Given the description of an element on the screen output the (x, y) to click on. 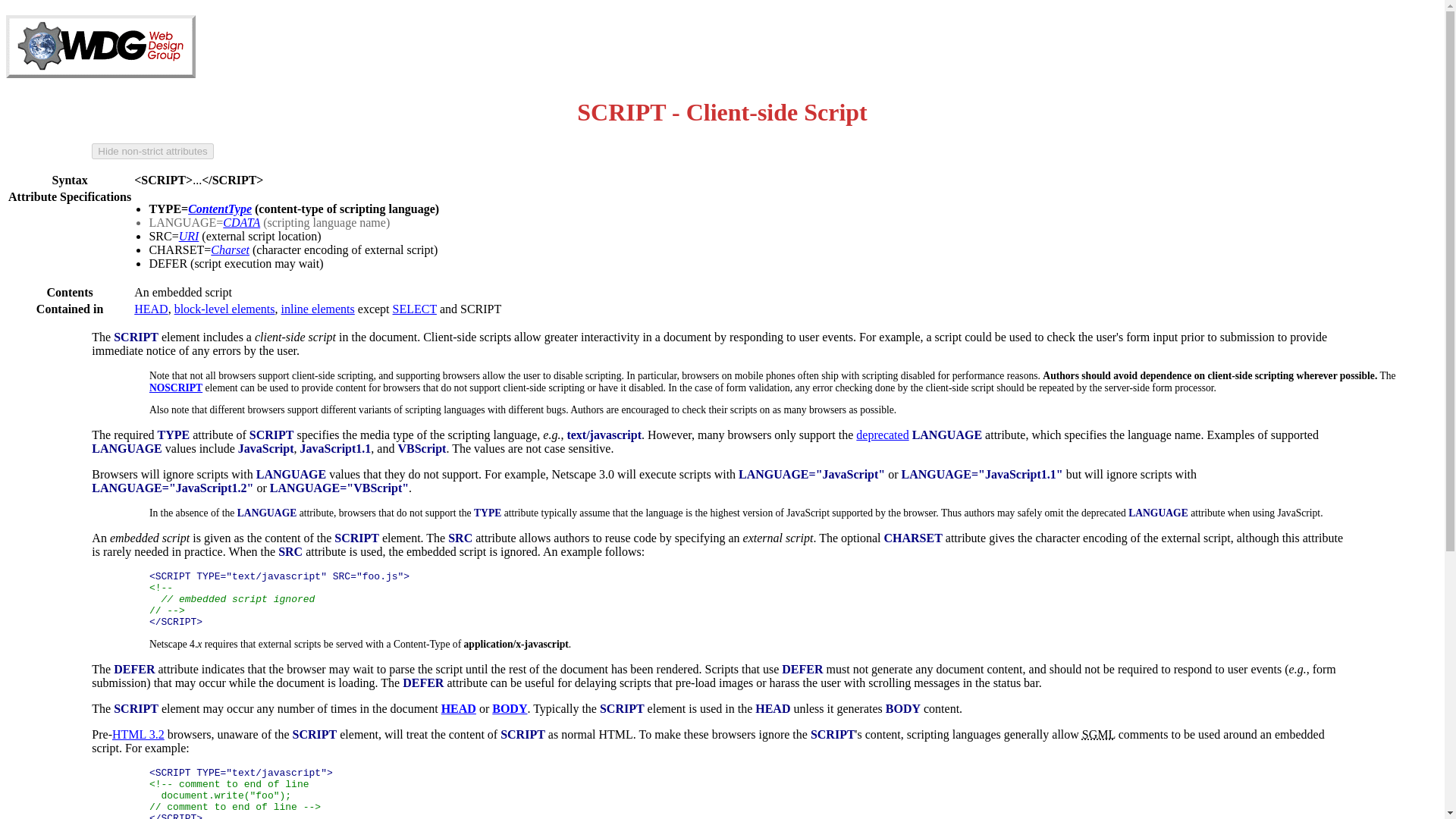
BODY (509, 707)
Hide non-strict attributes (151, 150)
HEAD (458, 707)
Charset (229, 249)
ContentType (219, 208)
HTML 3.2 (138, 734)
CDATA (241, 222)
NOSCRIPT (175, 387)
URI (189, 236)
deprecated (882, 434)
